Given the description of an element on the screen output the (x, y) to click on. 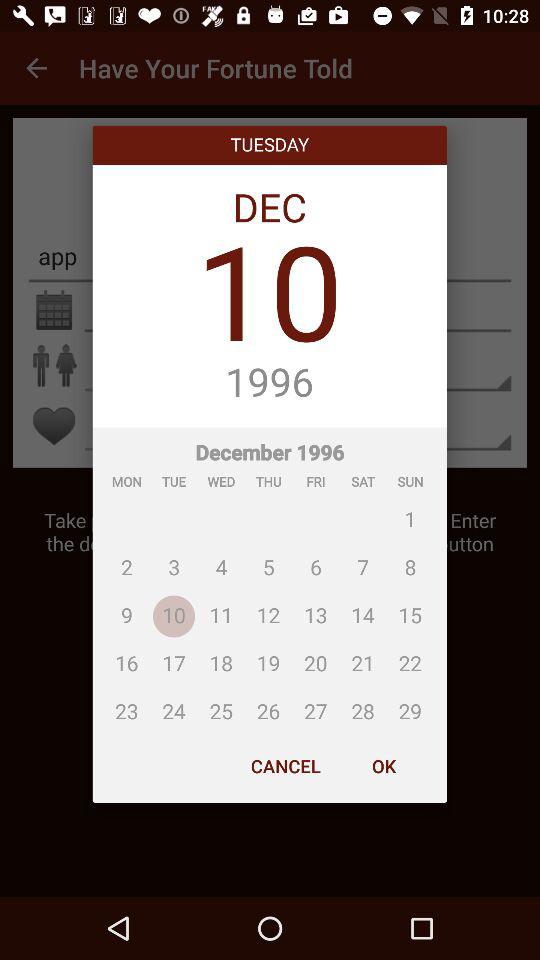
open cancel item (285, 765)
